Given the description of an element on the screen output the (x, y) to click on. 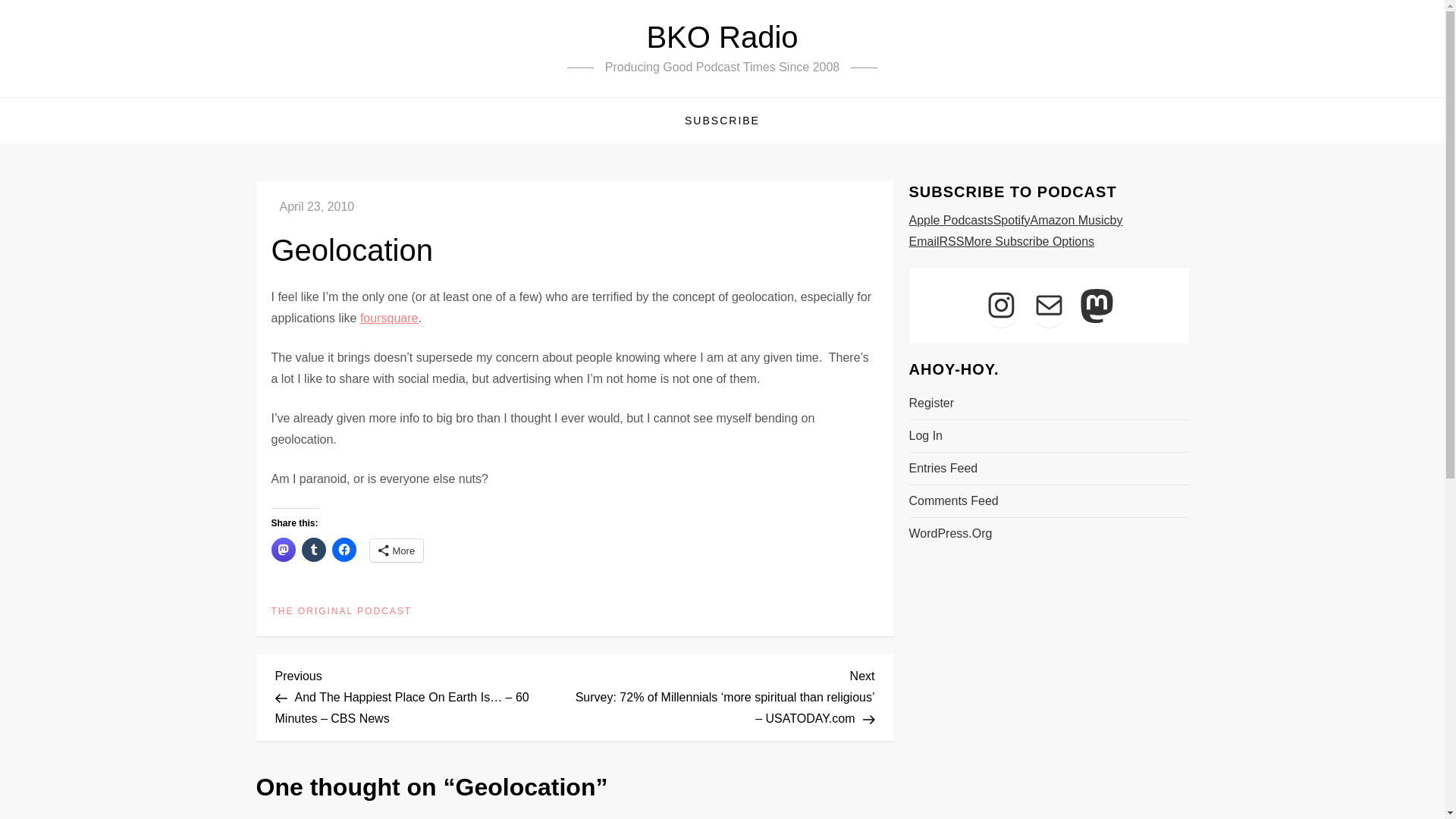
SUBSCRIBE (721, 120)
BKO Radio (721, 37)
Click to share on Tumblr (313, 549)
Subscribe by Email (1015, 230)
Register (930, 403)
Subscribe via RSS (951, 241)
Mastodon (1096, 305)
by Email (1015, 230)
Apple Podcasts (950, 219)
More (396, 549)
Click to share on Facebook (343, 549)
Spotify (1011, 219)
foursquare (389, 318)
Subscribe on Amazon Music (1069, 219)
Amazon Music (1069, 219)
